Given the description of an element on the screen output the (x, y) to click on. 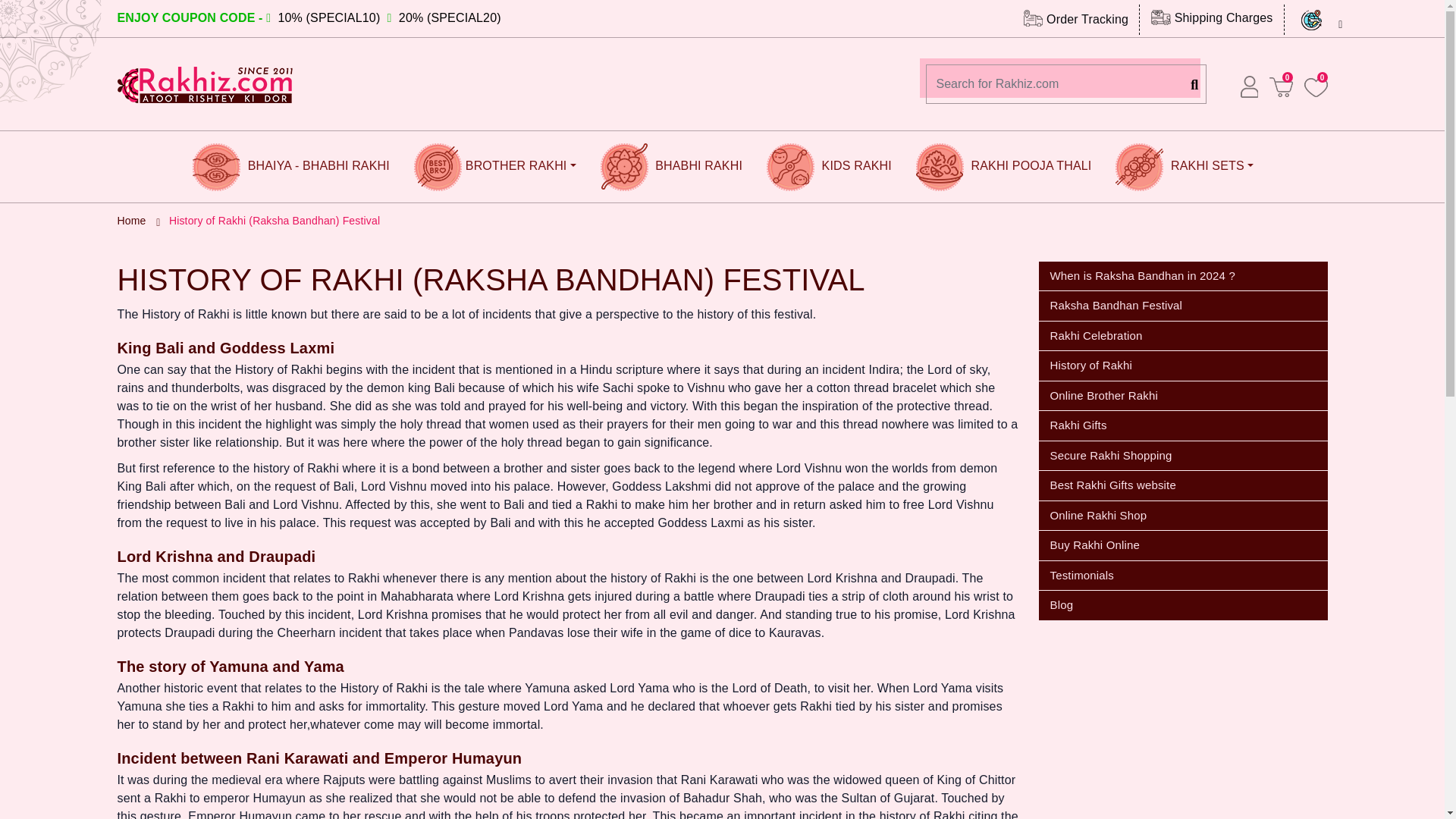
Home (130, 220)
Shipping Charges (1211, 18)
Track Order (1075, 18)
0 (1280, 86)
Order Tracking (1075, 18)
My Cart - Rakhiz.com (1315, 86)
Brother Rakhi (495, 166)
RAKHI SETS (1183, 166)
Raksha Bandhan Festival (1183, 306)
KIDS RAKHI (828, 166)
My Cart - Rakhiz.com (1280, 86)
BROTHER RAKHI (495, 166)
Best Rakhi Gifts website (1183, 485)
Secure Rakhi Shopping (1183, 455)
Rakhi Gifts (1183, 425)
